Given the description of an element on the screen output the (x, y) to click on. 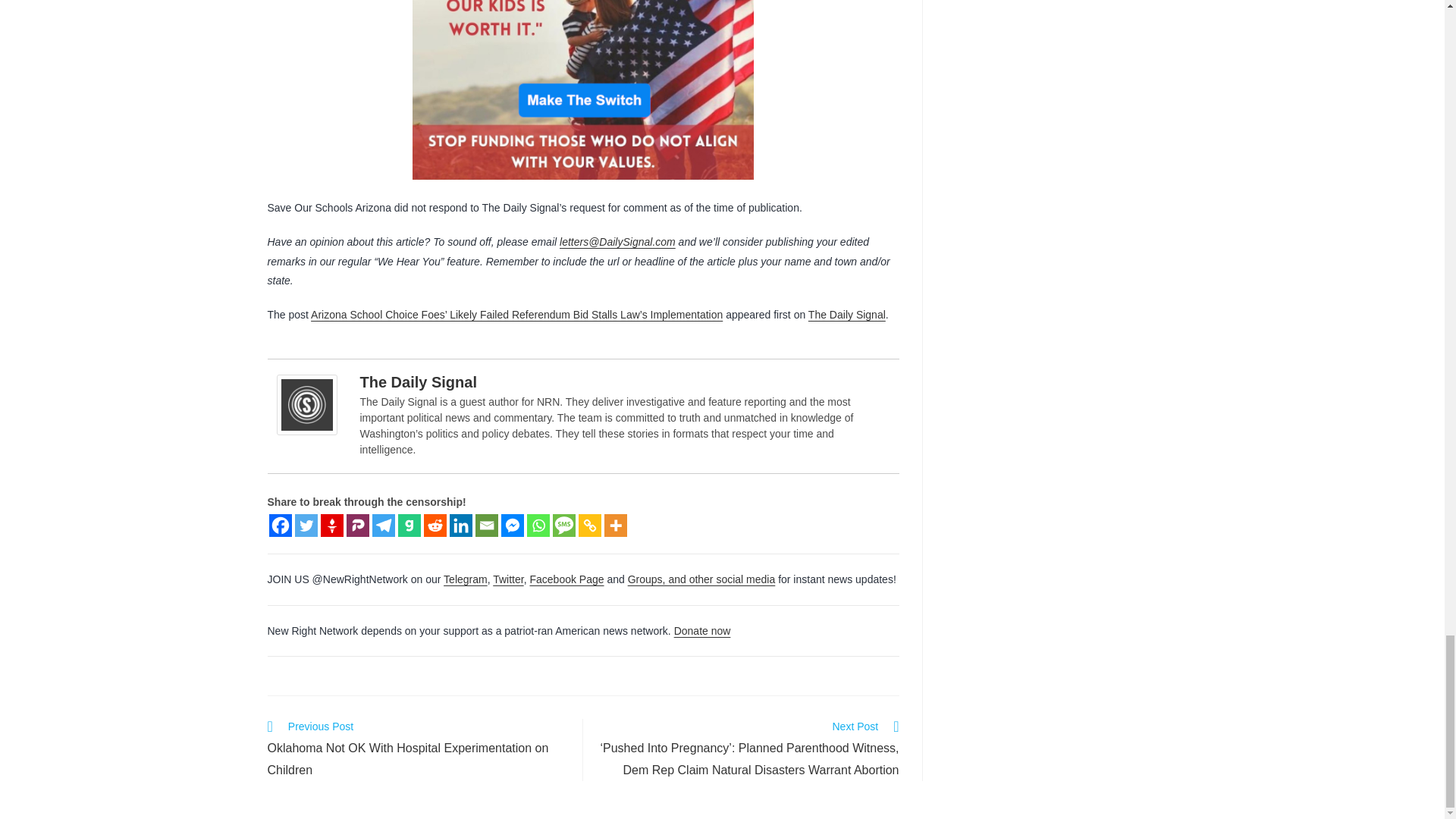
The Daily Signal (309, 404)
